Given the description of an element on the screen output the (x, y) to click on. 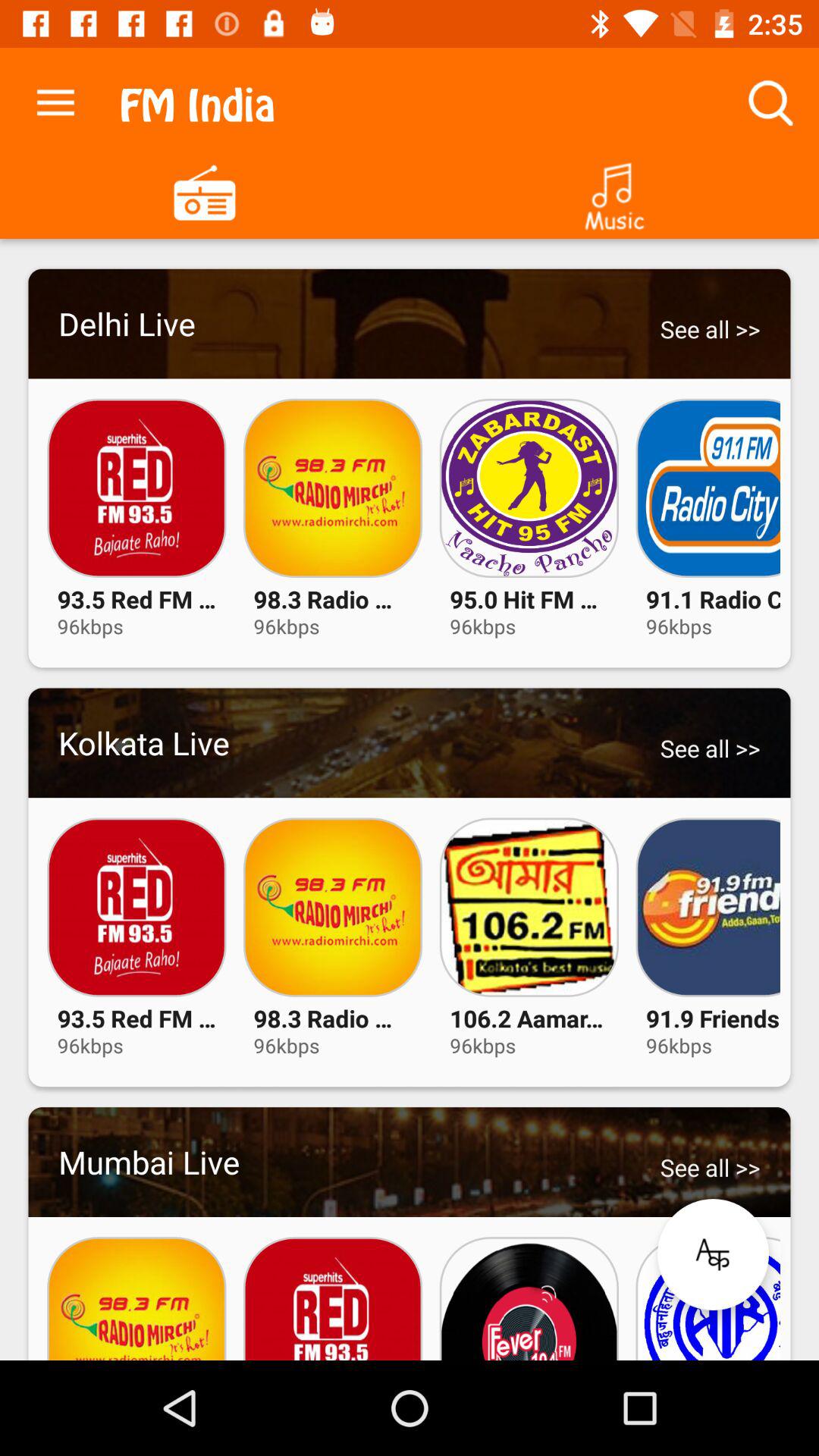
change the language (712, 1254)
